Given the description of an element on the screen output the (x, y) to click on. 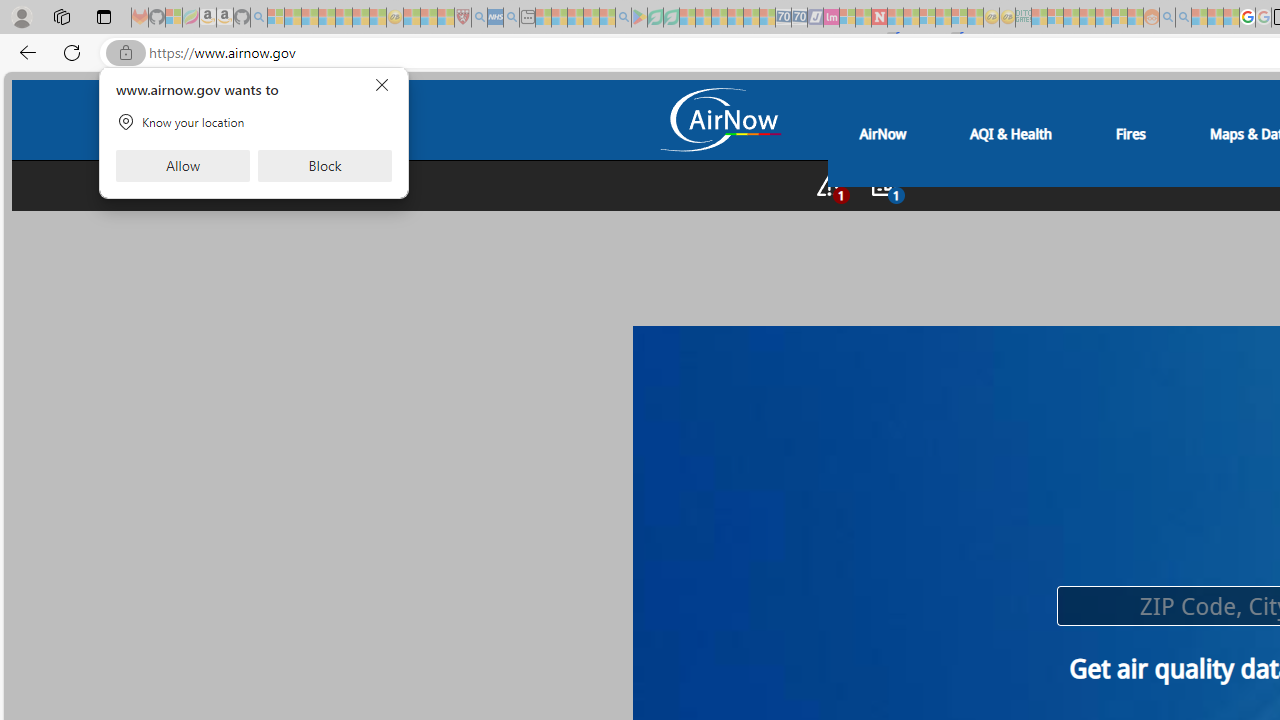
Class: main-link dropbtn-nav-link (1130, 133)
